Given the description of an element on the screen output the (x, y) to click on. 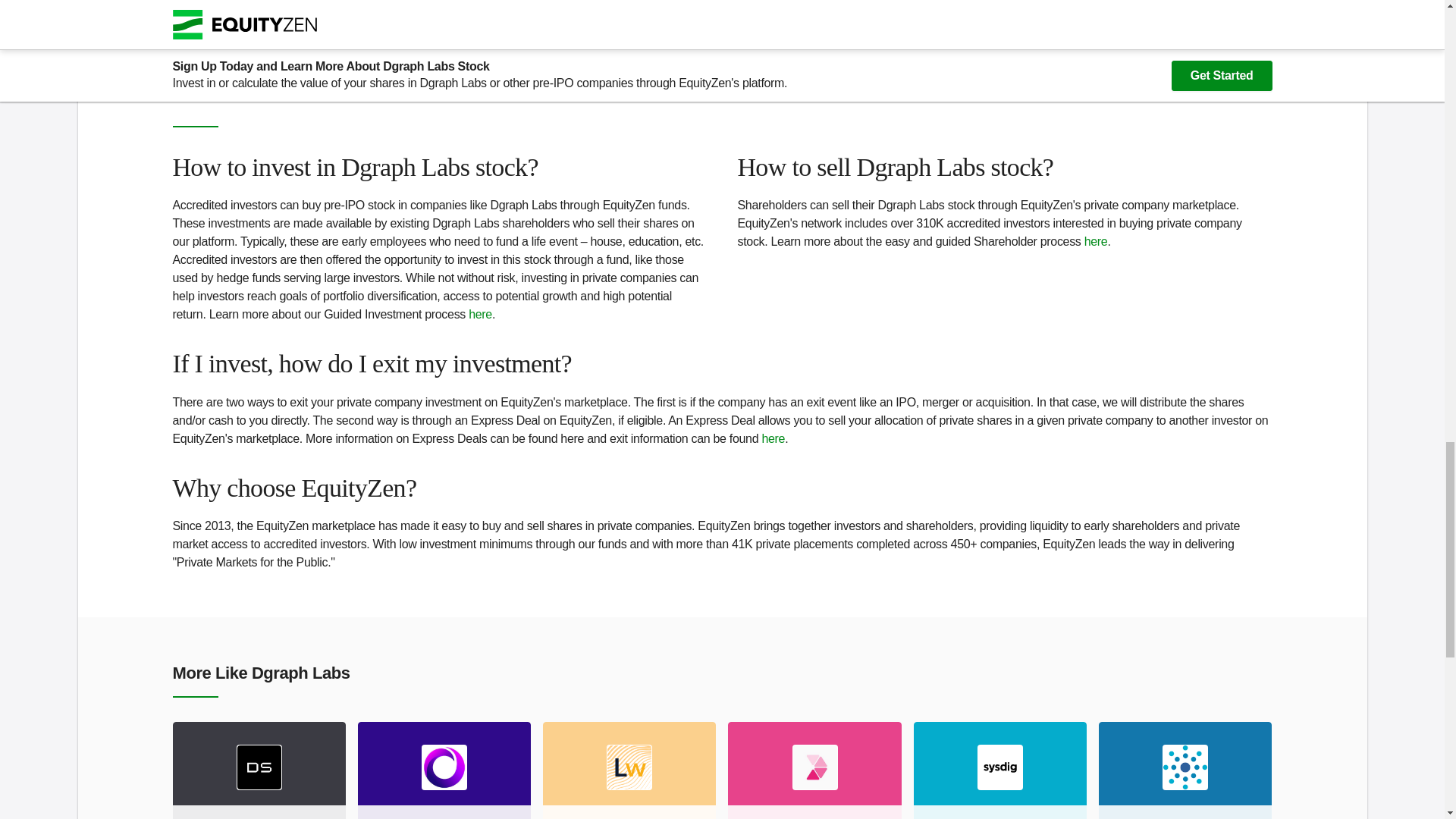
here (1096, 241)
here (1185, 770)
here (480, 314)
